Given the description of an element on the screen output the (x, y) to click on. 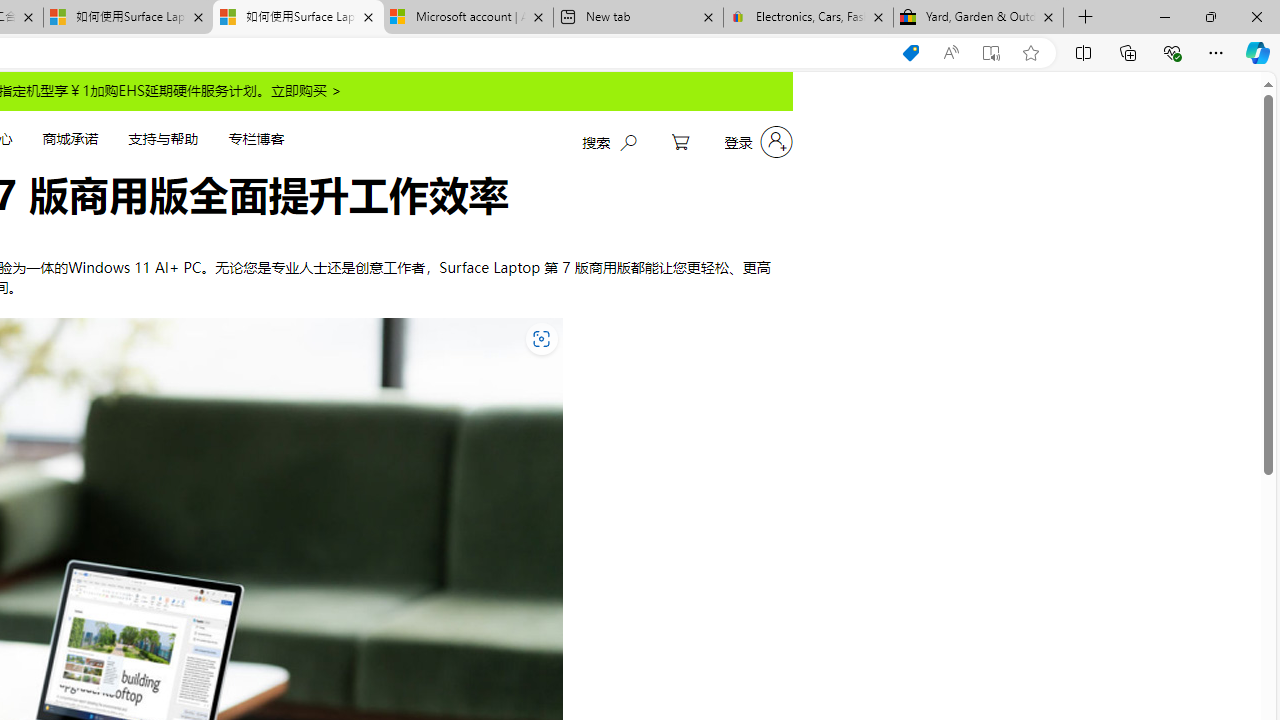
Enter Immersive Reader (F9) (991, 53)
Yard, Garden & Outdoor Living (978, 17)
My Cart (679, 142)
